Given the description of an element on the screen output the (x, y) to click on. 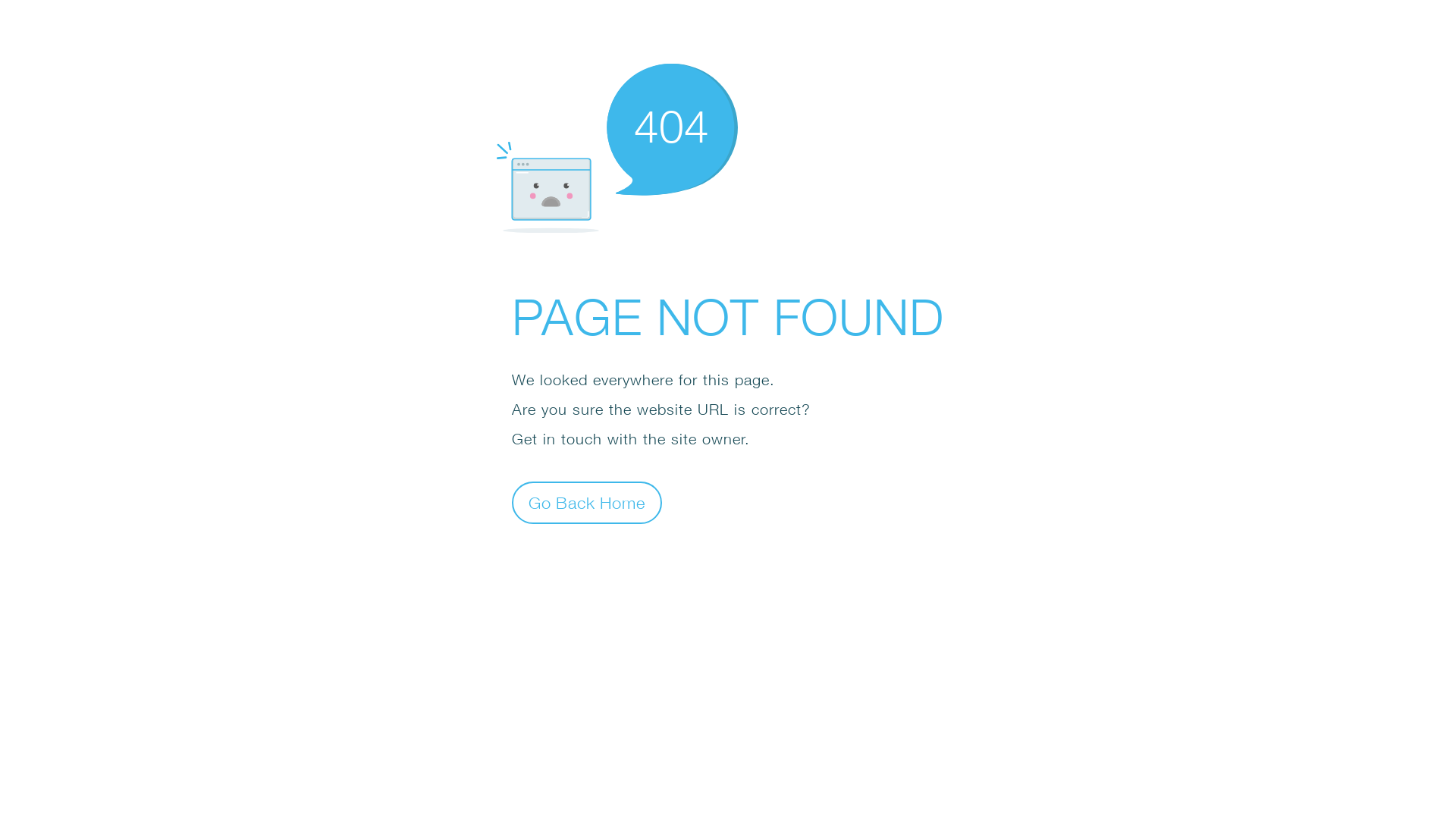
Go Back Home Element type: text (586, 502)
